Given the description of an element on the screen output the (x, y) to click on. 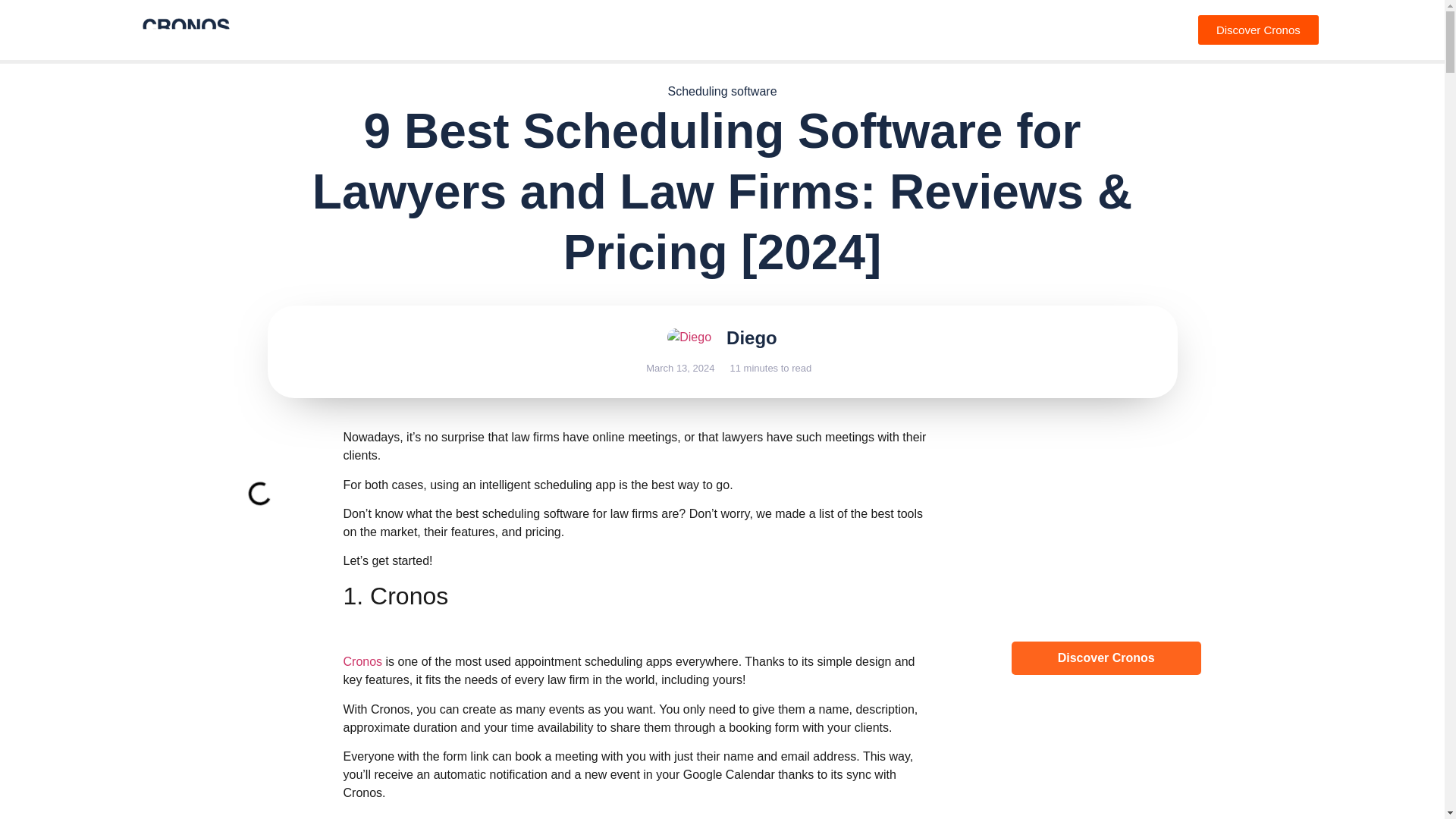
March 13, 2024 (678, 368)
Cronos (363, 661)
Scheduling software (721, 91)
Diego (751, 338)
Discover Cronos (1258, 30)
Discover Cronos (1106, 681)
